Given the description of an element on the screen output the (x, y) to click on. 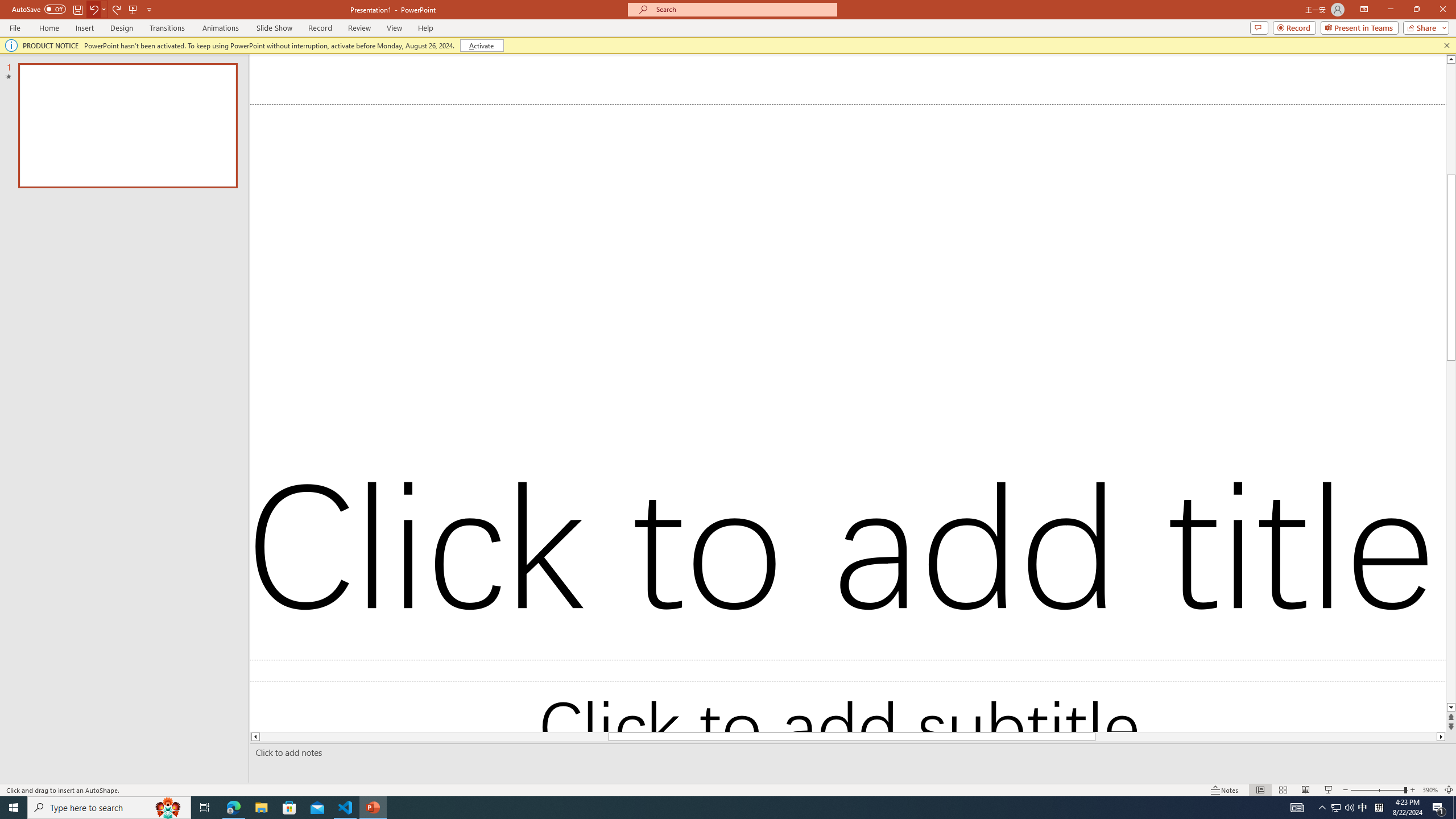
Activate (481, 45)
Close this message (1446, 45)
